Given the description of an element on the screen output the (x, y) to click on. 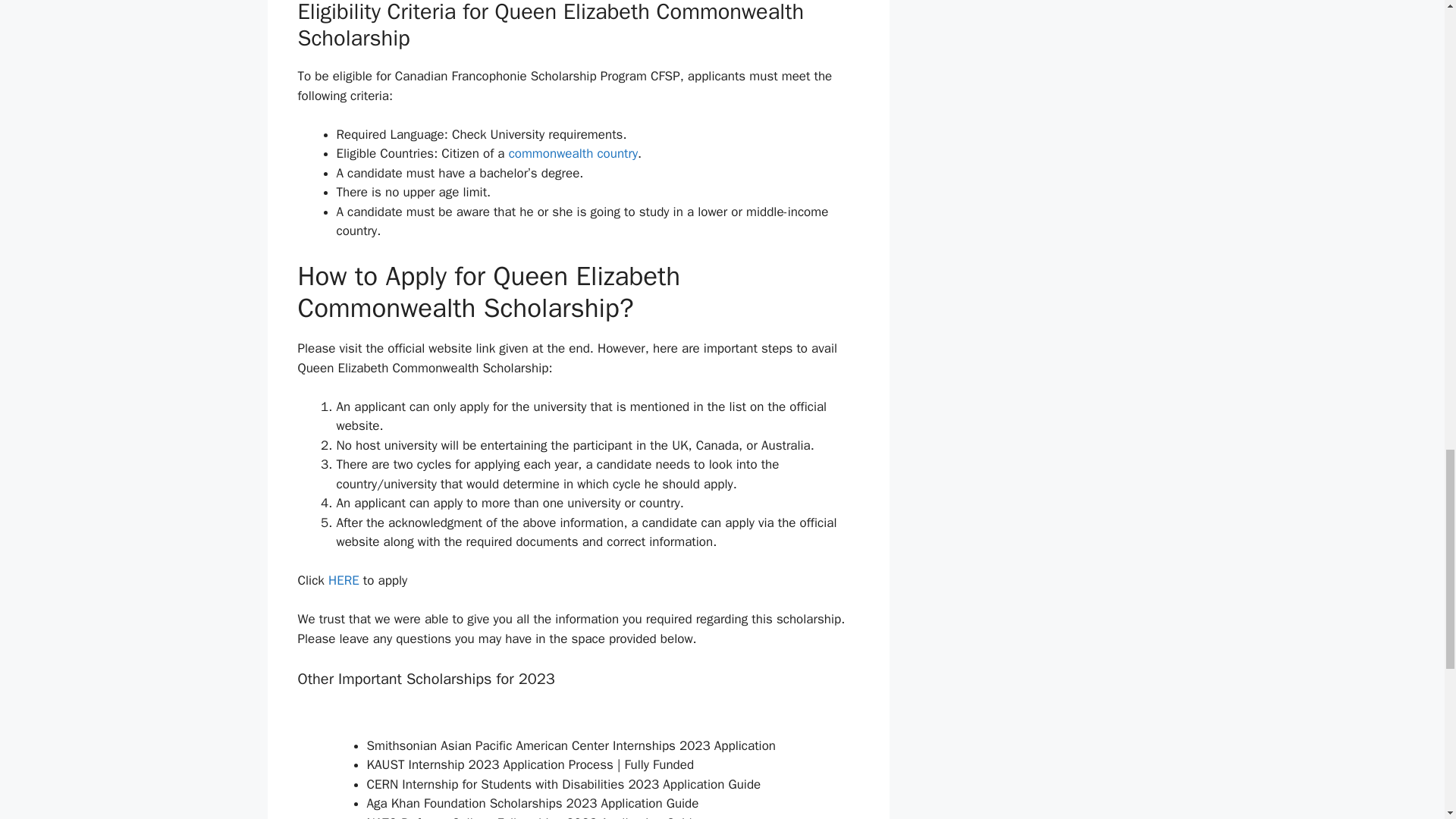
NATO Defense College Fellowships 2023 Application Guide (532, 816)
HERE (345, 580)
commonwealth country (572, 153)
Aga Khan Foundation Scholarships 2023 Application Guide (532, 803)
